Given the description of an element on the screen output the (x, y) to click on. 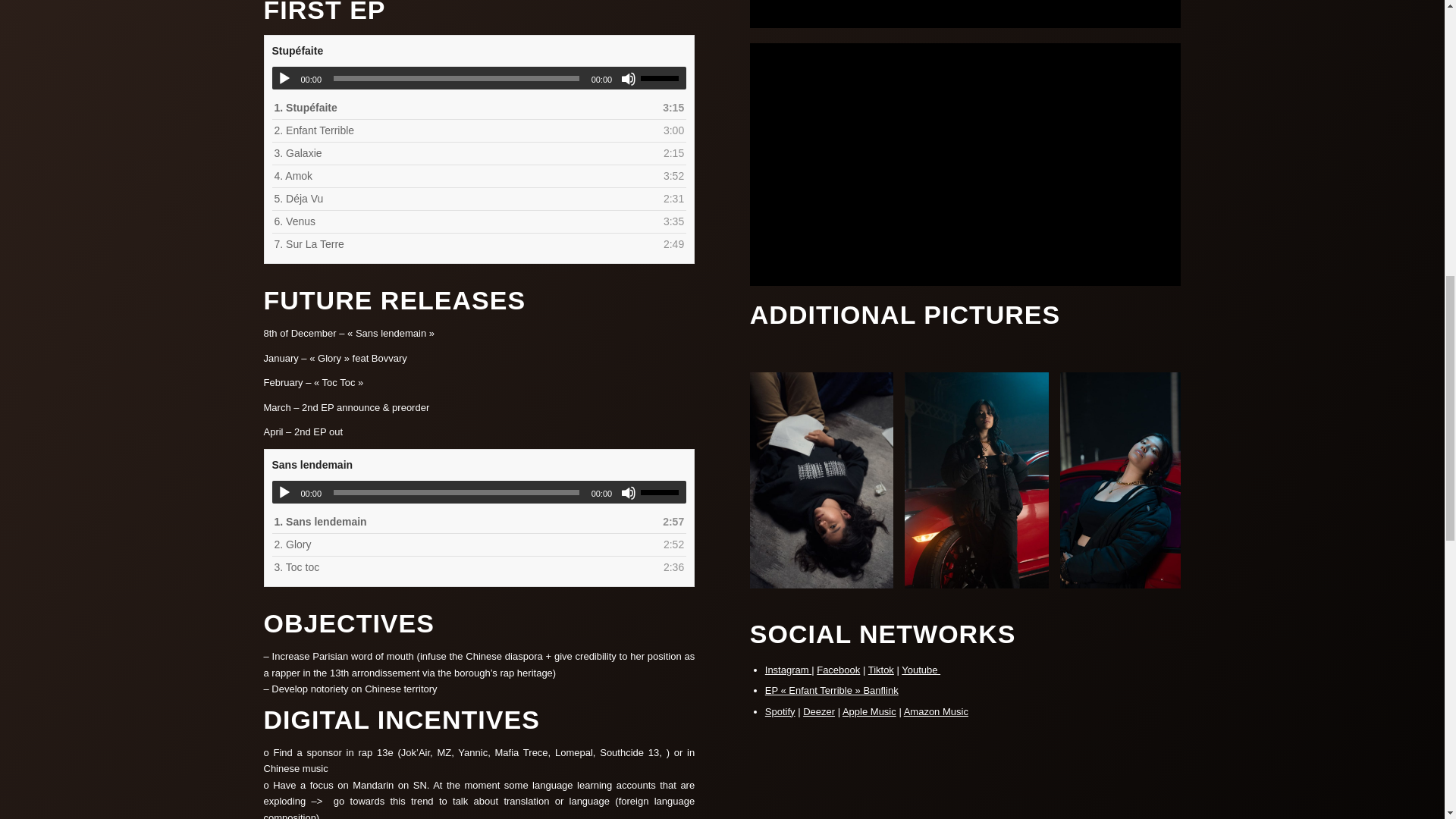
3. Toc toc (464, 567)
2. Enfant Terrible (464, 130)
4. Amok (464, 176)
Lecture (283, 78)
7. Sur La Terre (464, 244)
6. Venus (464, 221)
Muet (628, 78)
Lecture (283, 492)
Muet (628, 492)
1. Sans lendemain (464, 521)
2. Glory (464, 544)
3. Galaxie (464, 153)
